Given the description of an element on the screen output the (x, y) to click on. 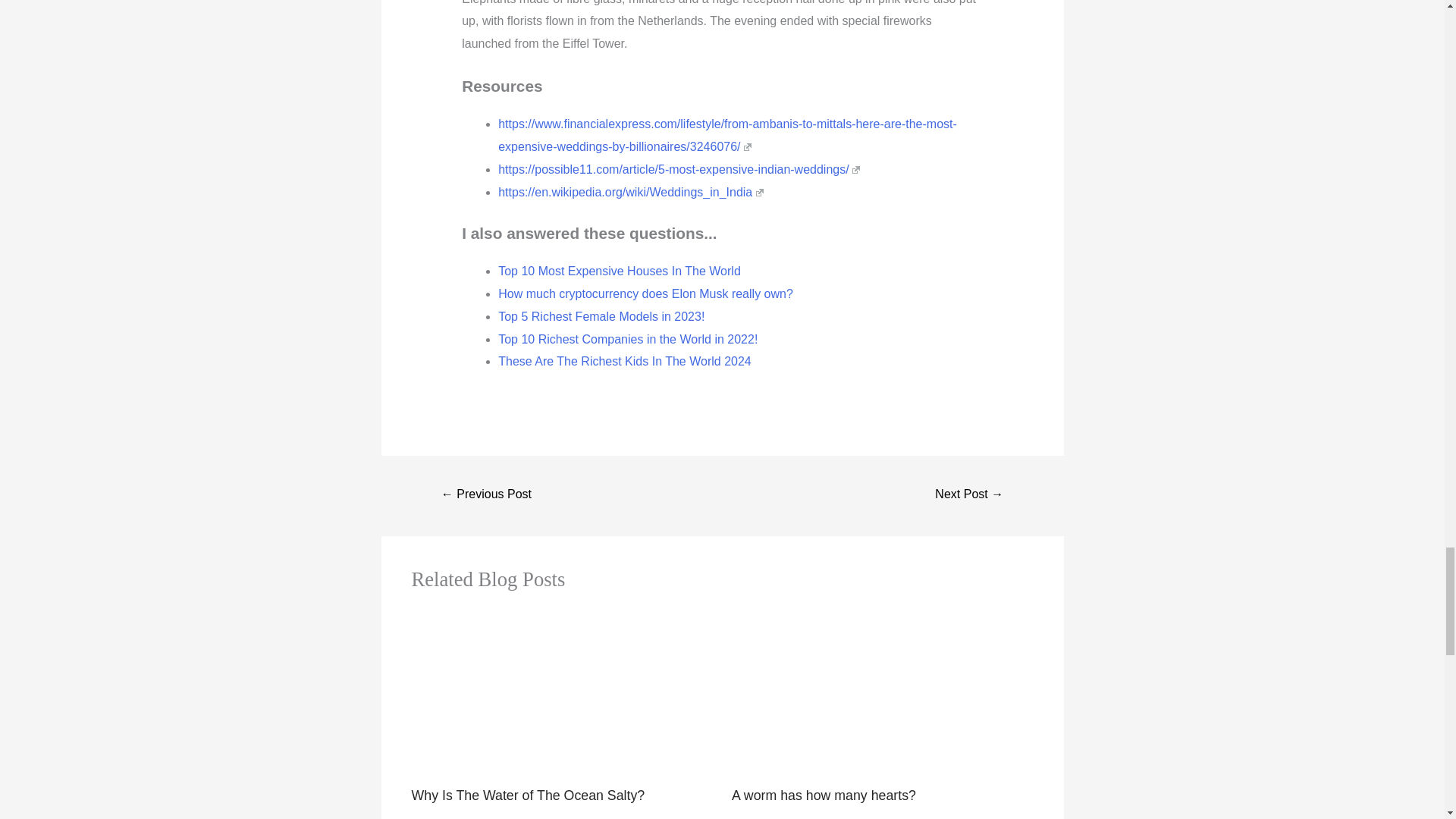
What was the most expensive dress at the Met Gala? (969, 495)
Top 10 most-viewed videos on YouTube in 2024 (486, 495)
